Given the description of an element on the screen output the (x, y) to click on. 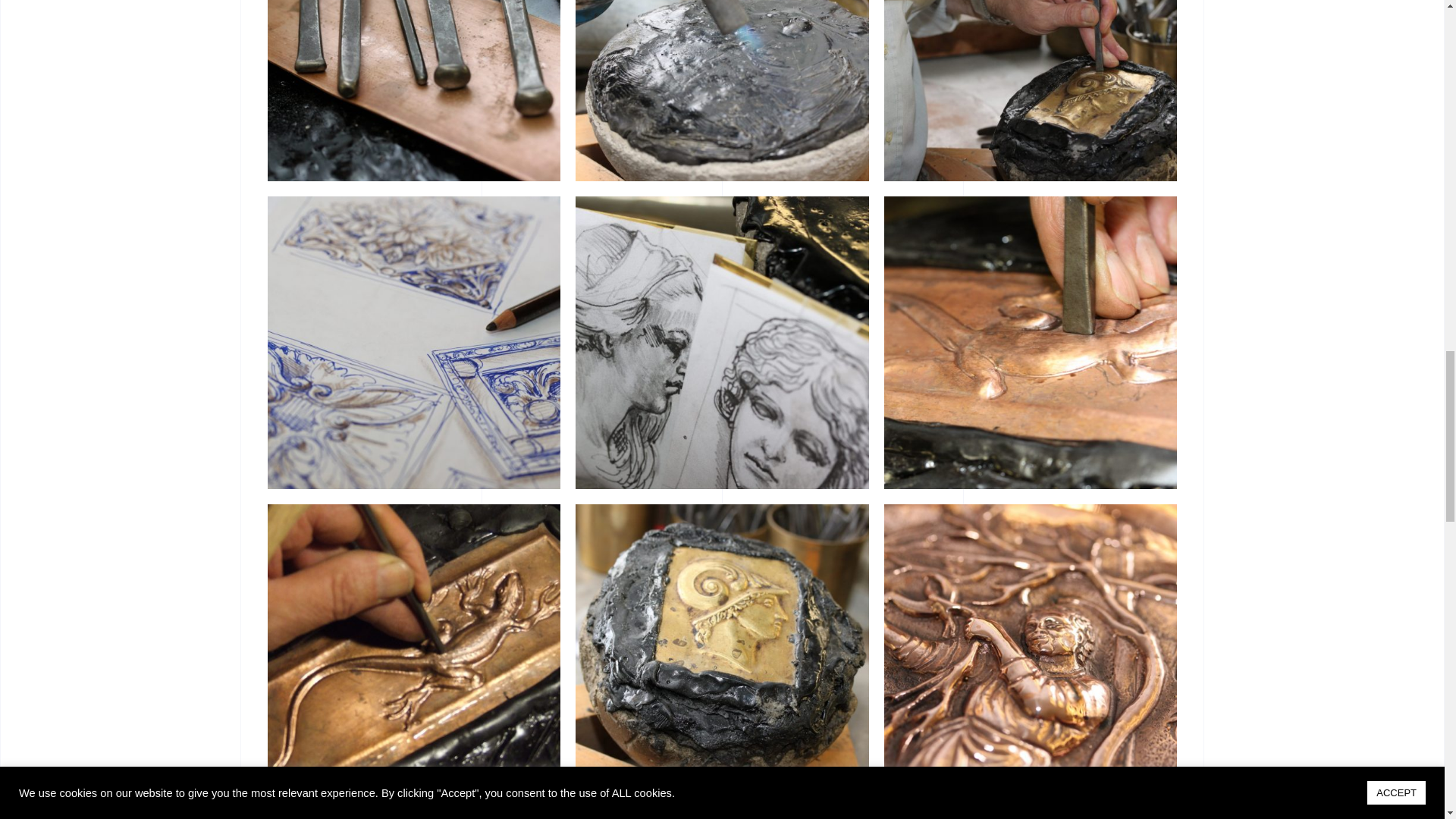
corso-Andrea-Pignataro- (1030, 816)
